Given the description of an element on the screen output the (x, y) to click on. 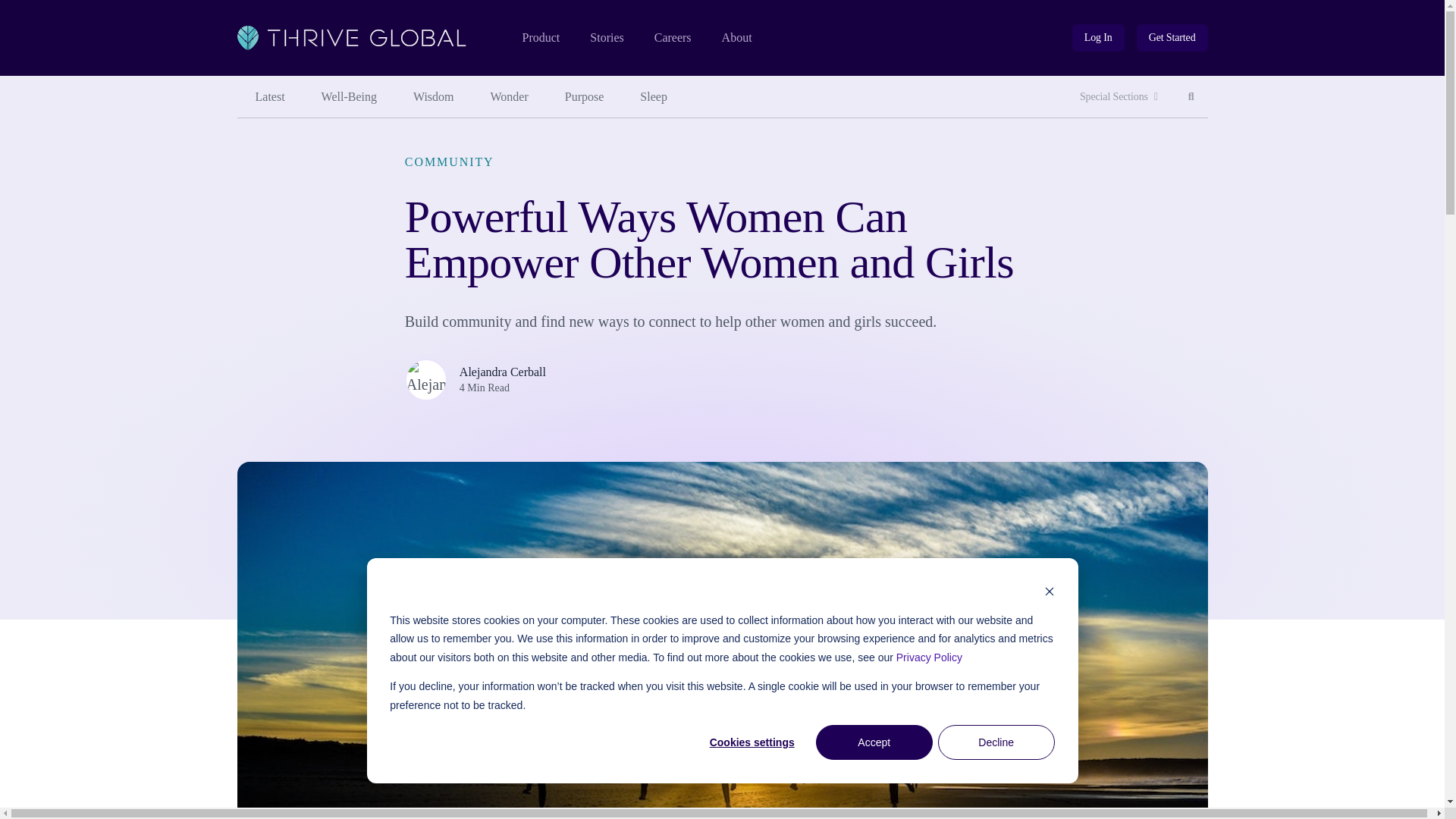
Special Sections (1191, 97)
Sleep (1118, 97)
About (653, 96)
Log In (737, 37)
Product (1097, 37)
Stories (540, 37)
Wonder (606, 37)
Latest (509, 96)
Get Started (268, 96)
btn-primary (1172, 37)
Careers (1172, 37)
Purpose (672, 37)
Wisdom (585, 96)
Well-Being (432, 96)
